Given the description of an element on the screen output the (x, y) to click on. 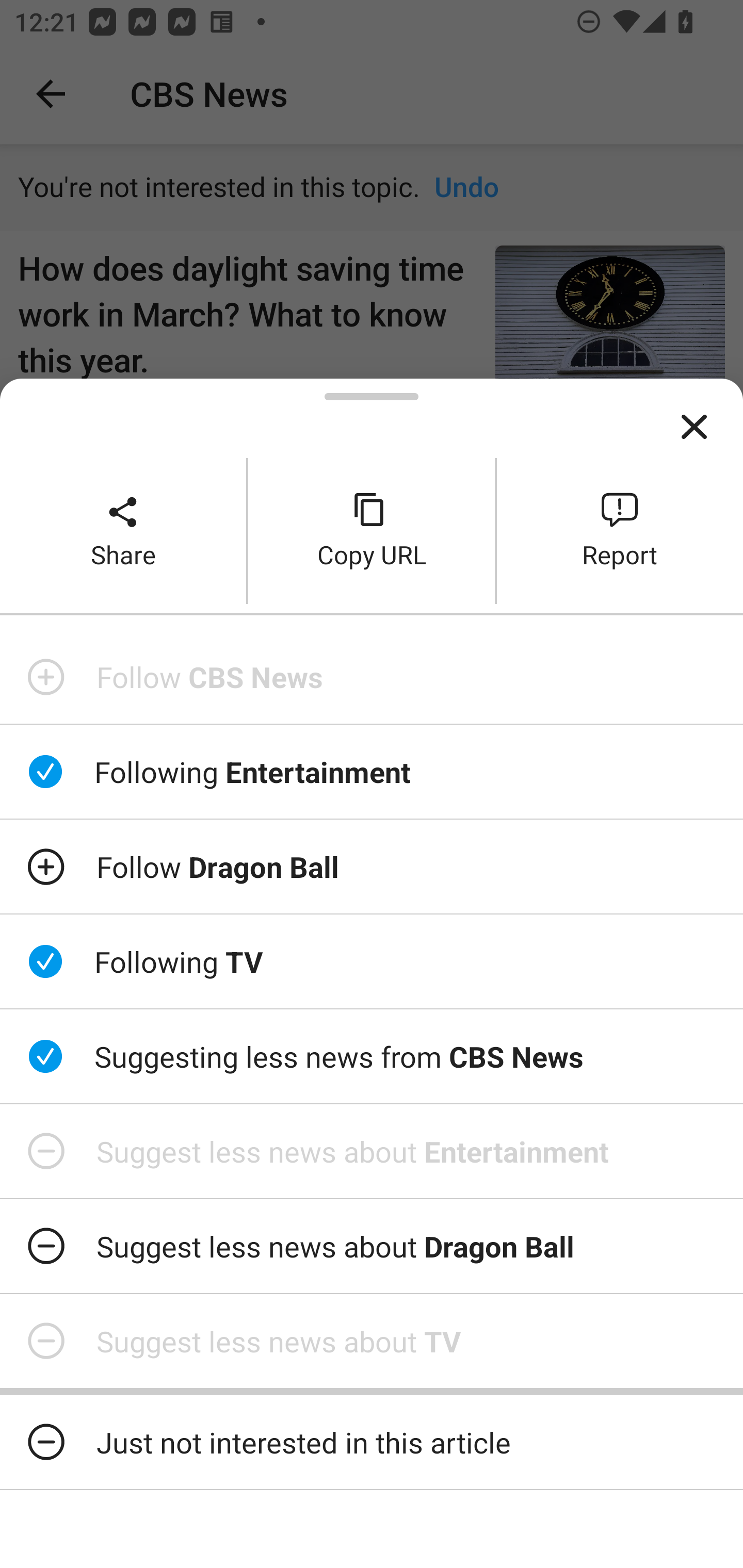
Close (694, 426)
Share (122, 530)
Copy URL (371, 530)
Report (620, 530)
Following Entertainment (371, 771)
Follow Dragon Ball  (371, 867)
Following TV (371, 961)
Suggesting less news from CBS News (371, 1056)
Suggest less news about Dragon Ball  (371, 1246)
Just not interested in this article (371, 1442)
